Given the description of an element on the screen output the (x, y) to click on. 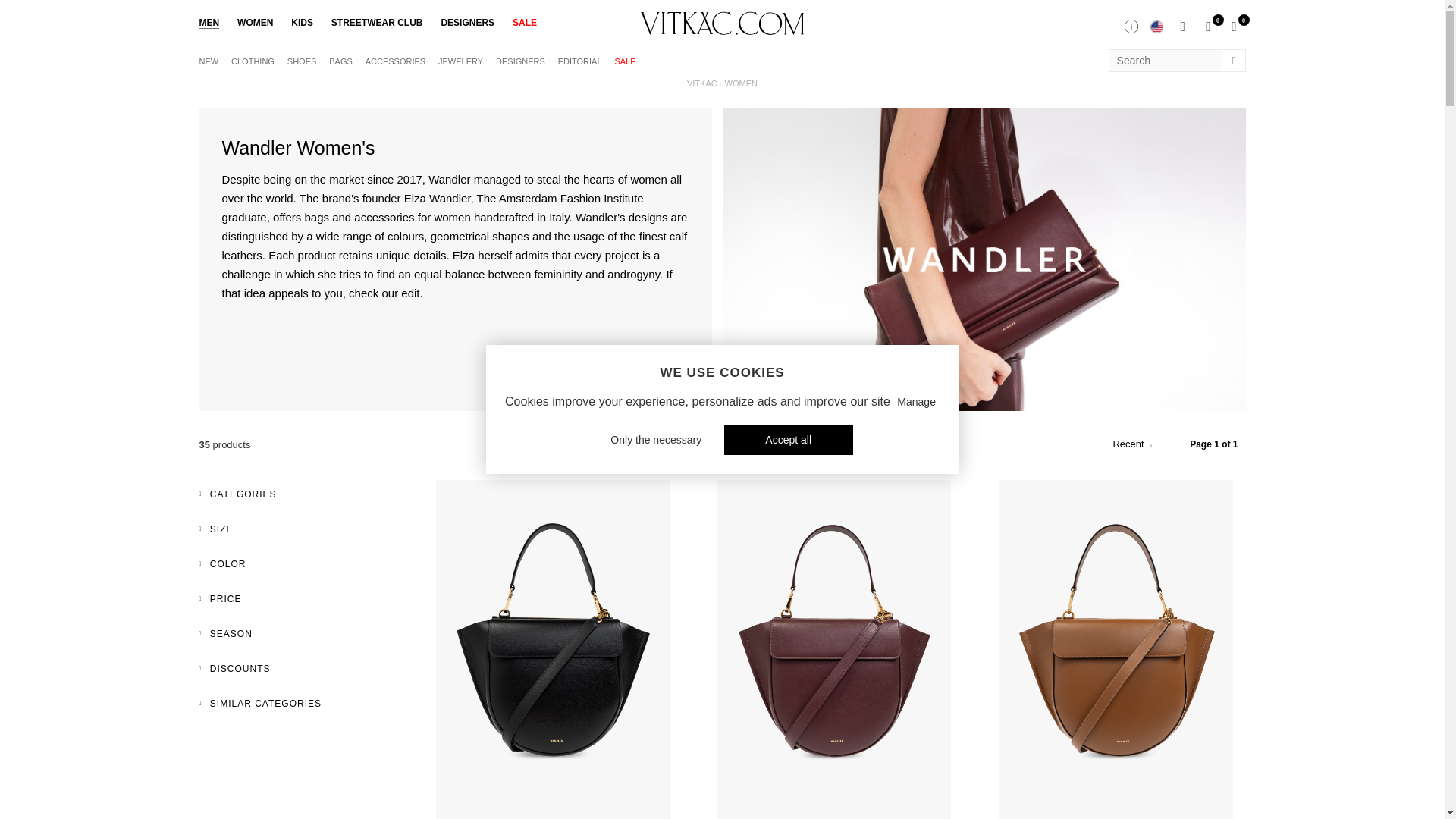
Vitkac.com Luxury Online Boutique Shop (722, 22)
DESIGNERS (468, 22)
0 (1208, 26)
JEWELERY (460, 61)
WOMEN (255, 22)
STREETWEAR CLUB (377, 22)
KIDS (302, 22)
BAGS (340, 61)
CLOTHING (253, 61)
SHOES (301, 61)
MEN (208, 22)
SALE (624, 61)
NEW (208, 61)
ACCESSORIES (395, 61)
DESIGNERS (520, 61)
